Given the description of an element on the screen output the (x, y) to click on. 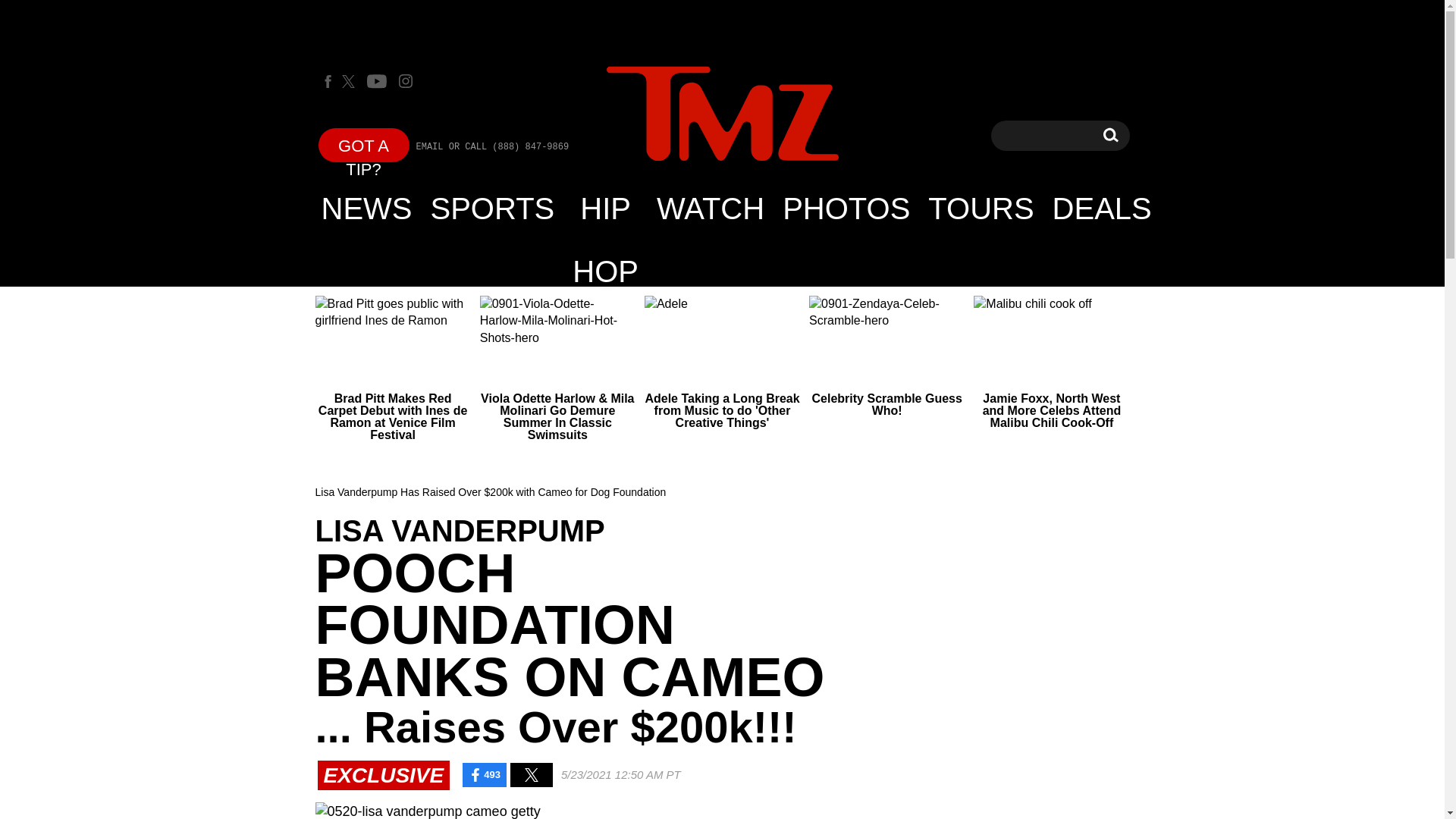
TMZ (722, 115)
DEALS (1101, 207)
WATCH (710, 207)
TOURS (980, 207)
PHOTOS (845, 207)
Search (1110, 134)
GOT A TIP? (363, 144)
NEWS (367, 207)
